Given the description of an element on the screen output the (x, y) to click on. 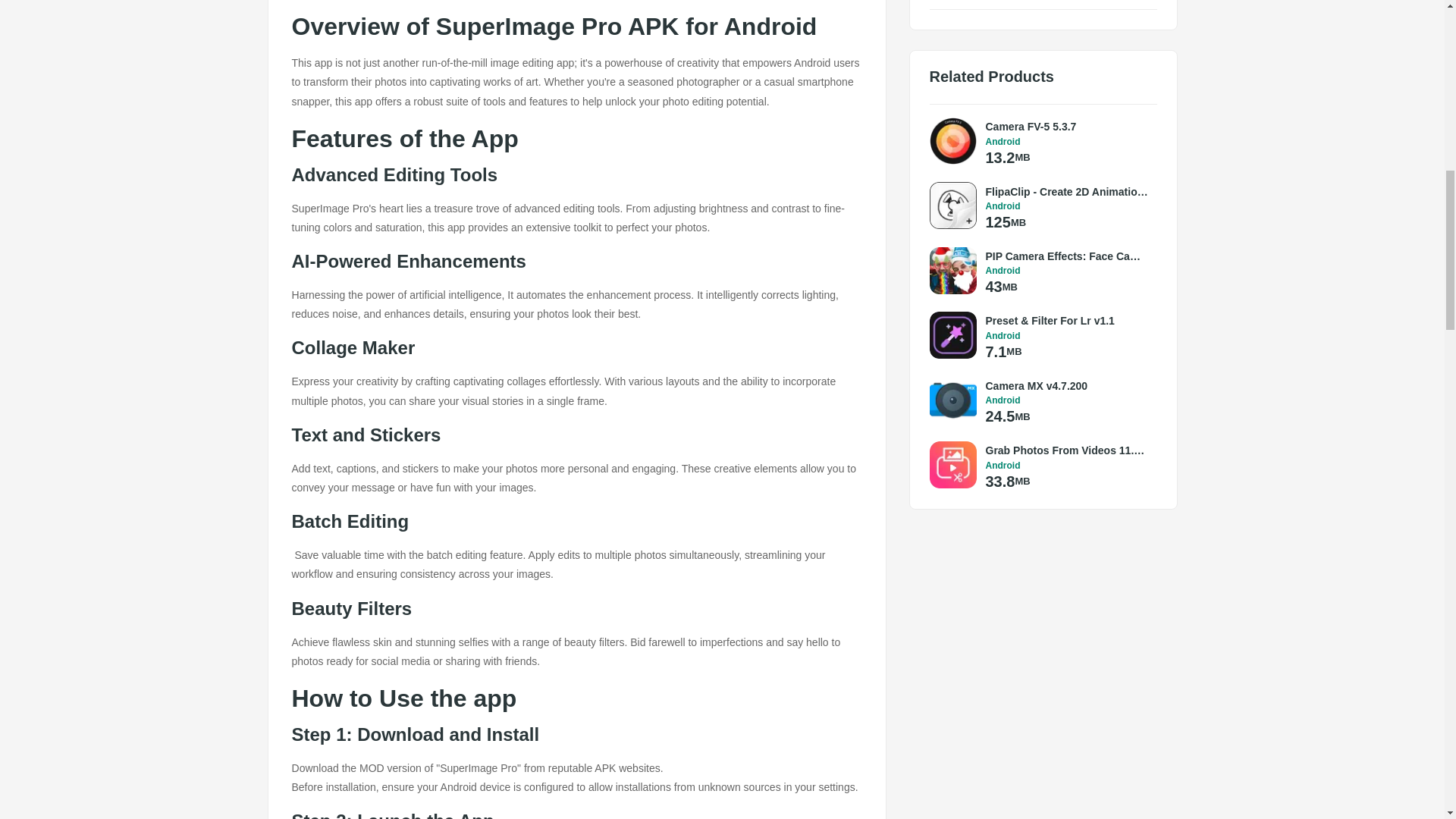
Camera MX v4.7.200 (1067, 385)
Android (1067, 270)
FlipaClip - Create 2D Animation 3.9.1 (1067, 191)
Camera FV-5 5.3.7 (1067, 126)
Android (1067, 205)
Android (1067, 335)
Android (1067, 141)
